Given the description of an element on the screen output the (x, y) to click on. 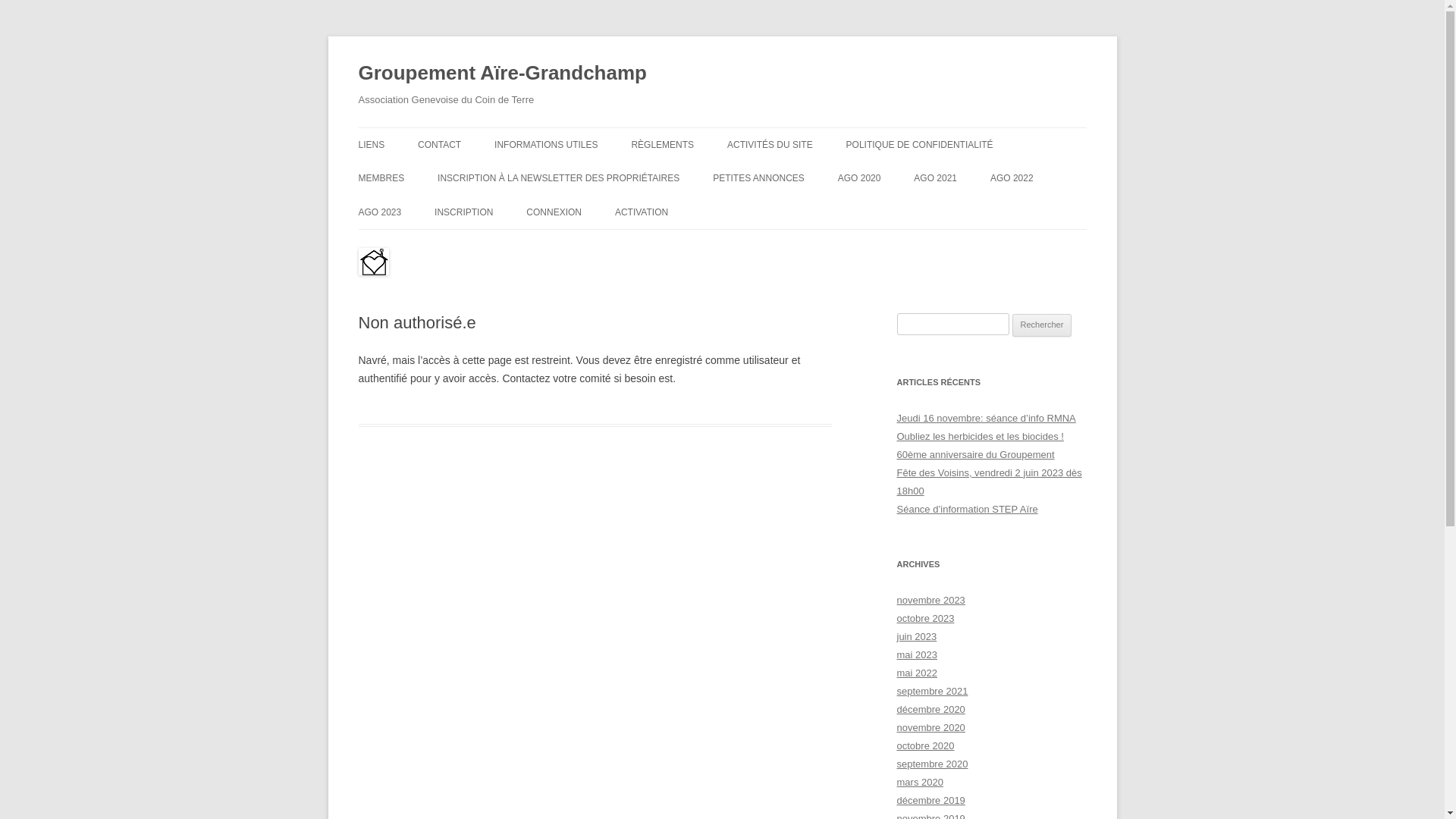
ACTIVATION Element type: text (641, 212)
AGO 2021 Element type: text (935, 177)
Rechercher Element type: text (1042, 324)
CONNEXION Element type: text (553, 212)
juin 2023 Element type: text (916, 636)
INSCRIPTION Element type: text (463, 212)
mars 2020 Element type: text (919, 781)
mai 2022 Element type: text (916, 672)
MEMBRES Element type: text (380, 177)
septembre 2021 Element type: text (931, 690)
Aller au contenu Element type: text (721, 127)
septembre 2020 Element type: text (931, 763)
LIENS Element type: text (370, 144)
INFORMATIONS UTILES Element type: text (545, 144)
AGO 2022 Element type: text (1011, 177)
octobre 2023 Element type: text (924, 618)
octobre 2020 Element type: text (924, 745)
AGO 2020 Element type: text (859, 177)
novembre 2023 Element type: text (930, 599)
PETITES ANNONCES Element type: text (758, 177)
mai 2023 Element type: text (916, 654)
novembre 2020 Element type: text (930, 727)
CONTACT Element type: text (439, 144)
AGO 2023 Element type: text (379, 212)
Oubliez les herbicides et les biocides ! Element type: text (979, 436)
